Given the description of an element on the screen output the (x, y) to click on. 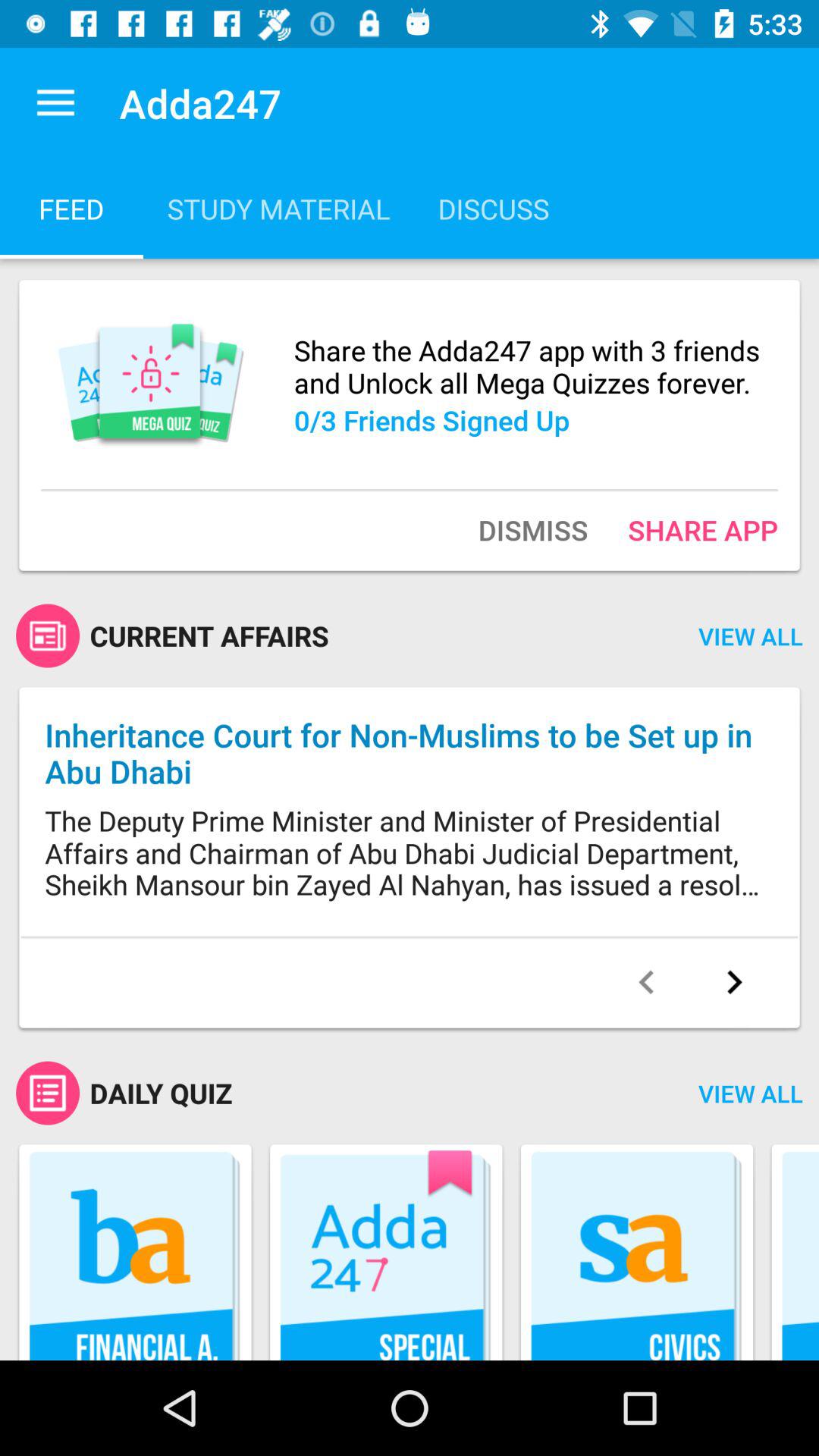
next (734, 982)
